Given the description of an element on the screen output the (x, y) to click on. 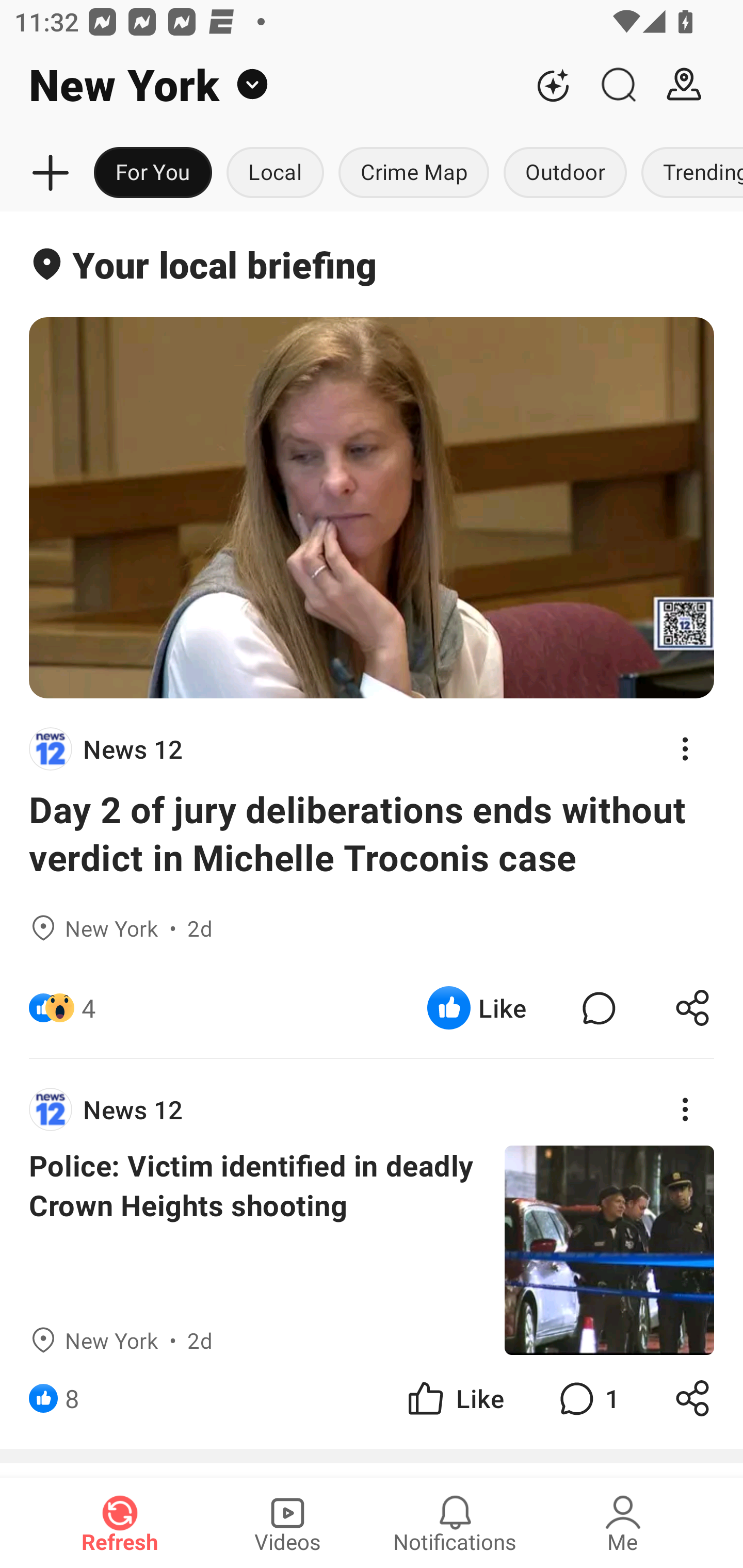
New York (260, 84)
For You (152, 172)
Local (275, 172)
Crime Map (413, 172)
Outdoor (564, 172)
Trending (688, 172)
4 (88, 1007)
Like (476, 1007)
8 (72, 1397)
Like (454, 1397)
1 (587, 1397)
Videos (287, 1522)
Notifications (455, 1522)
Me (622, 1522)
